Given the description of an element on the screen output the (x, y) to click on. 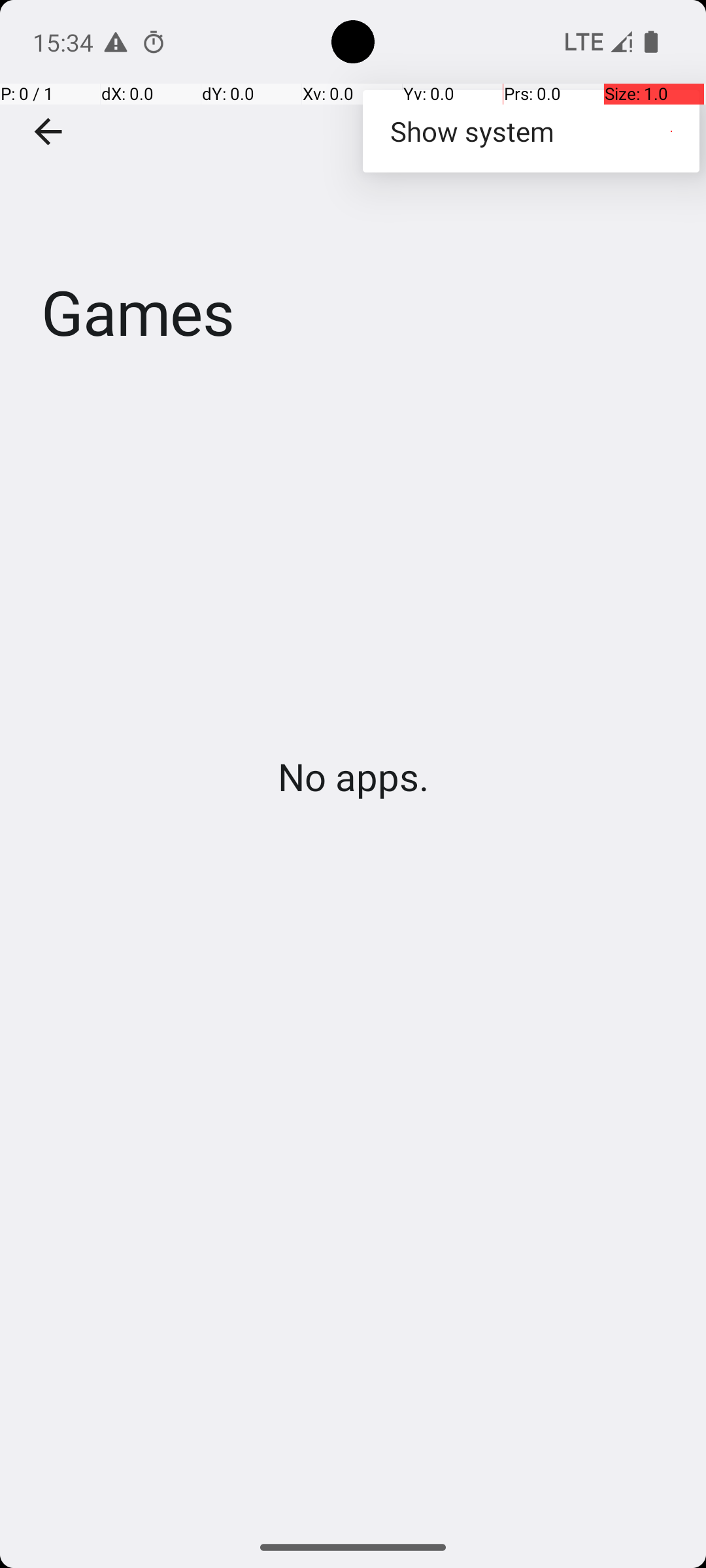
Show system Element type: android.widget.TextView (531, 130)
